Given the description of an element on the screen output the (x, y) to click on. 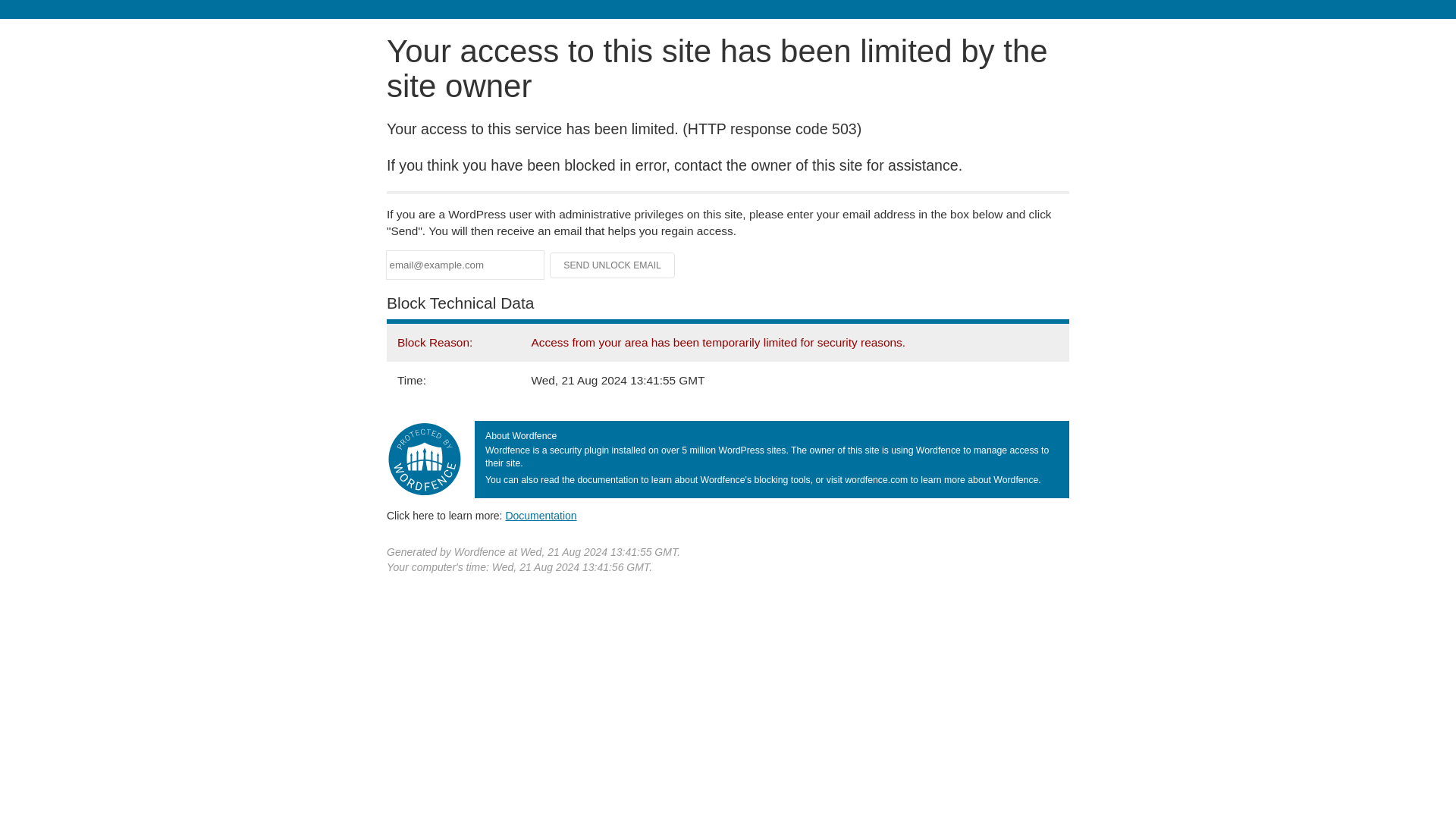
Send Unlock Email (612, 265)
Documentation (540, 515)
Send Unlock Email (612, 265)
